Given the description of an element on the screen output the (x, y) to click on. 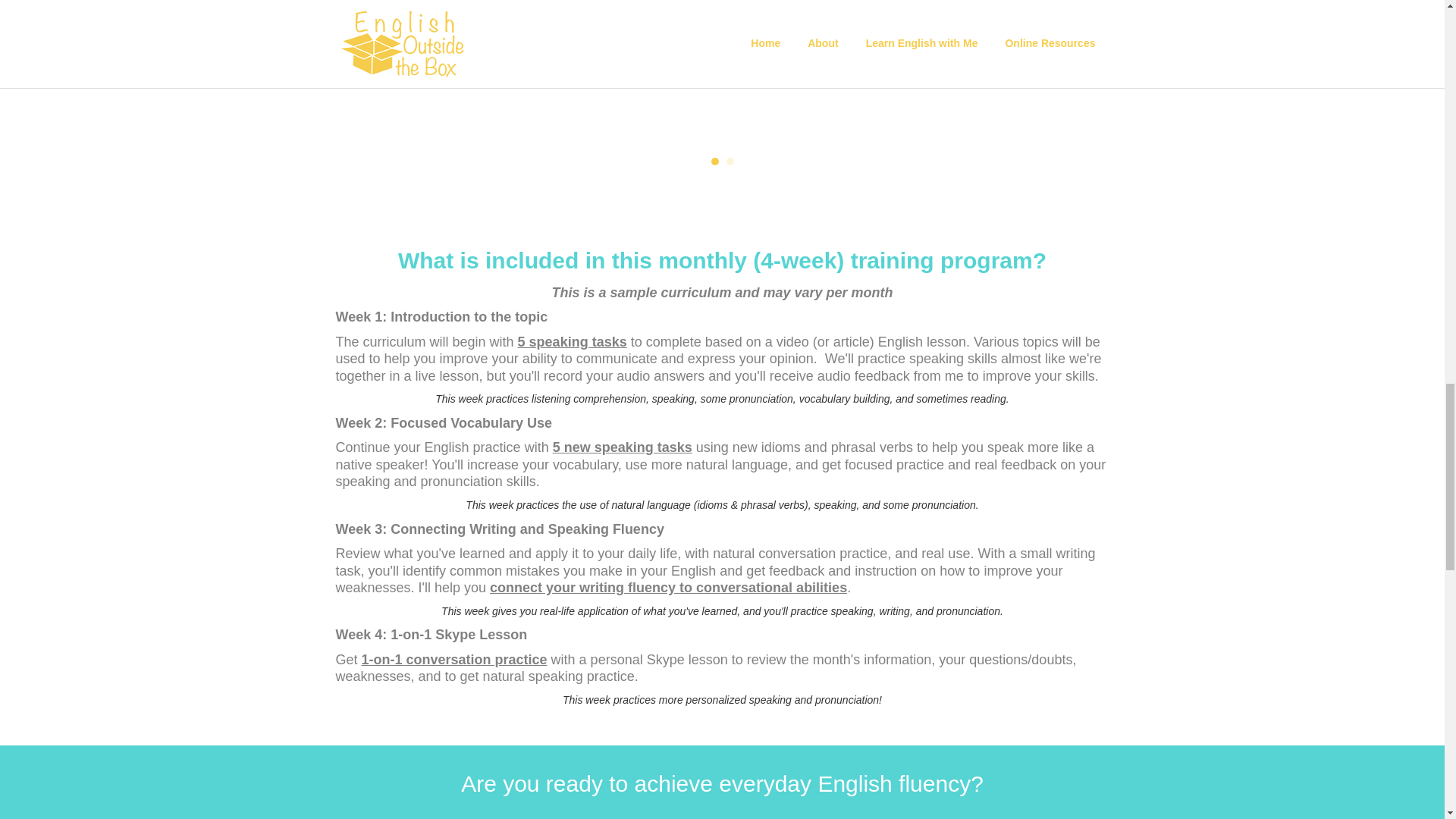
2 (729, 161)
1 (715, 161)
